Given the description of an element on the screen output the (x, y) to click on. 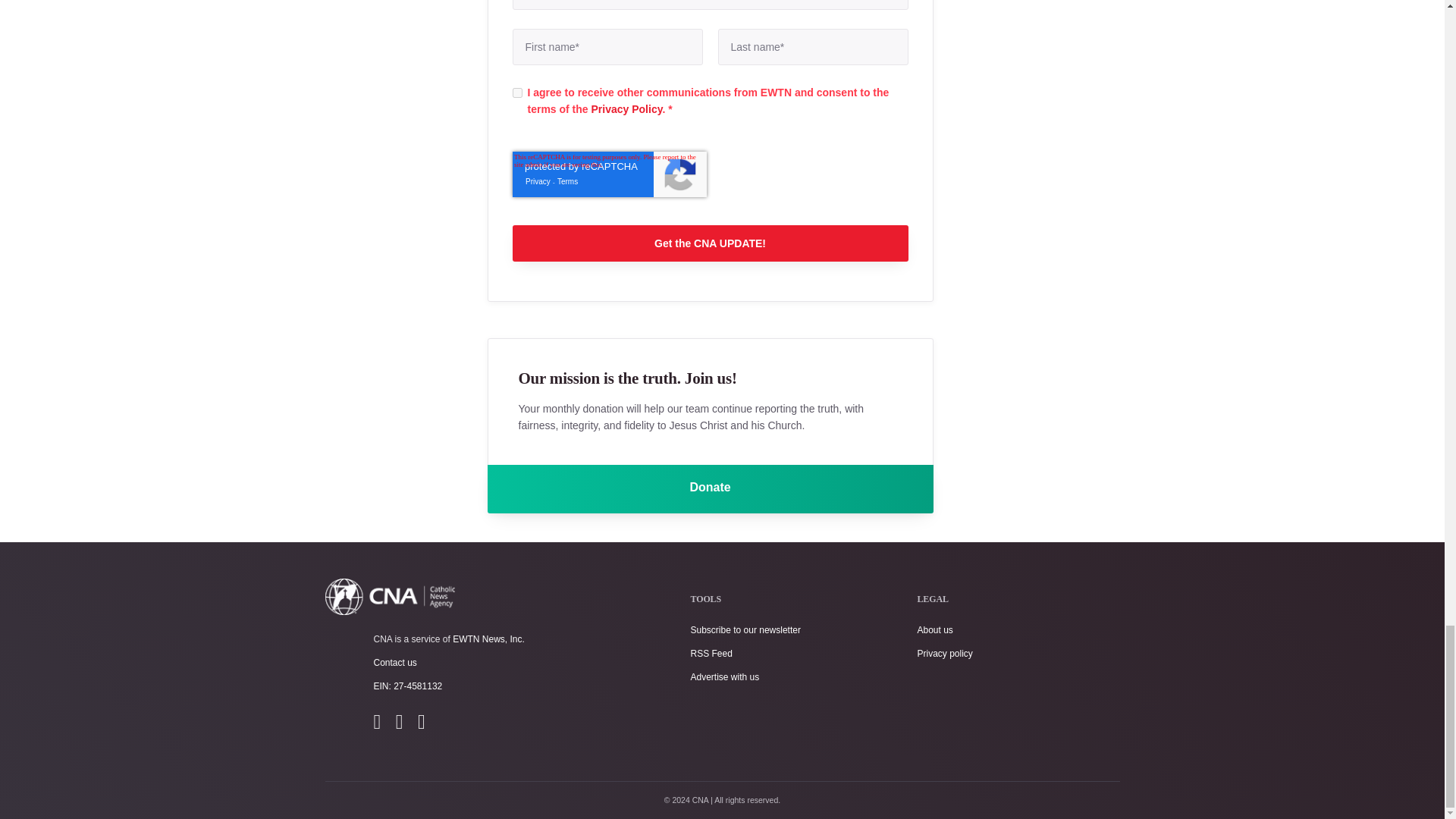
Get the CNA UPDATE! (710, 243)
true (517, 92)
reCAPTCHA (609, 174)
